Given the description of an element on the screen output the (x, y) to click on. 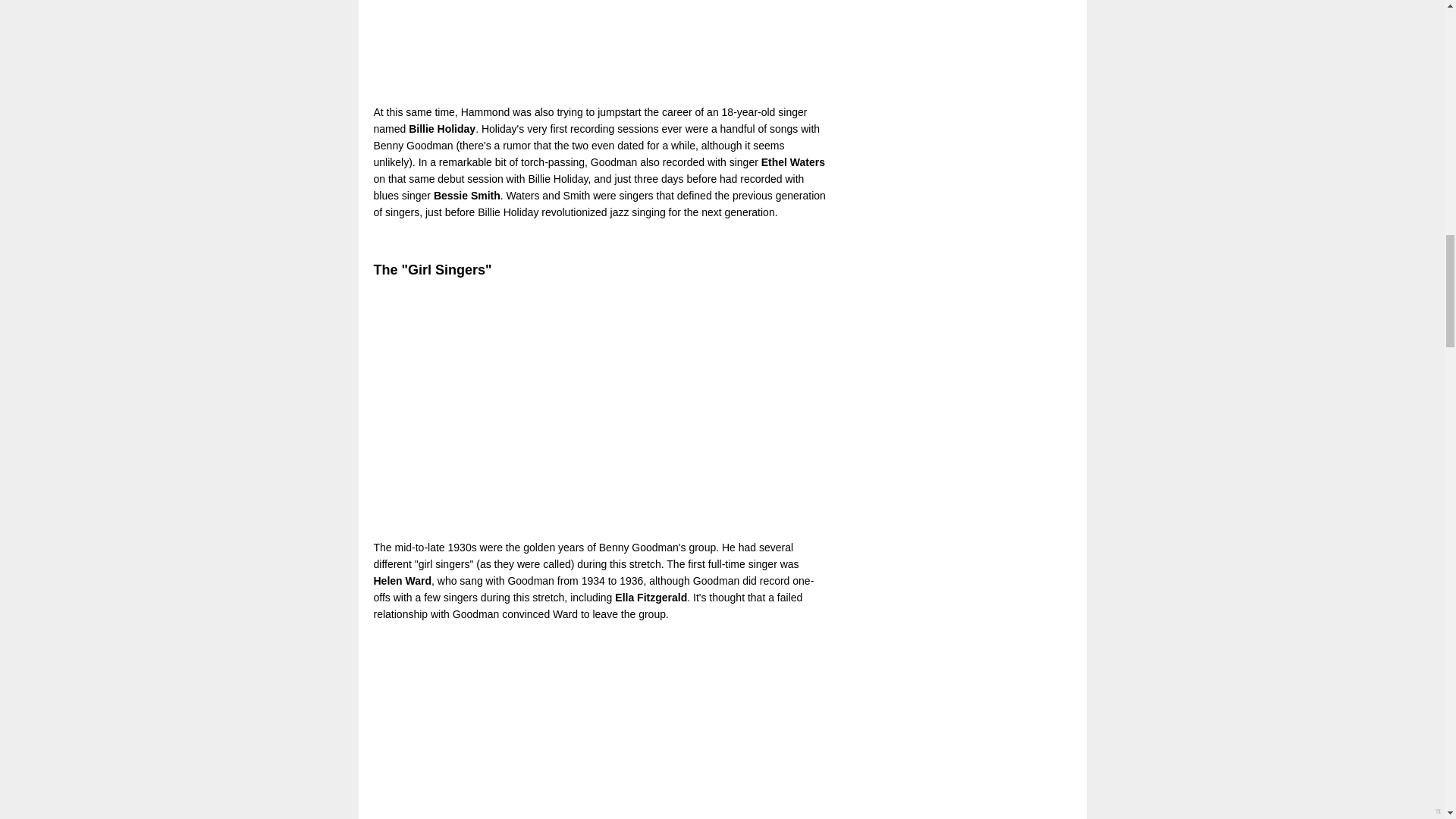
YouTube video player (584, 408)
YouTube video player (584, 46)
YouTube video player (584, 726)
